Given the description of an element on the screen output the (x, y) to click on. 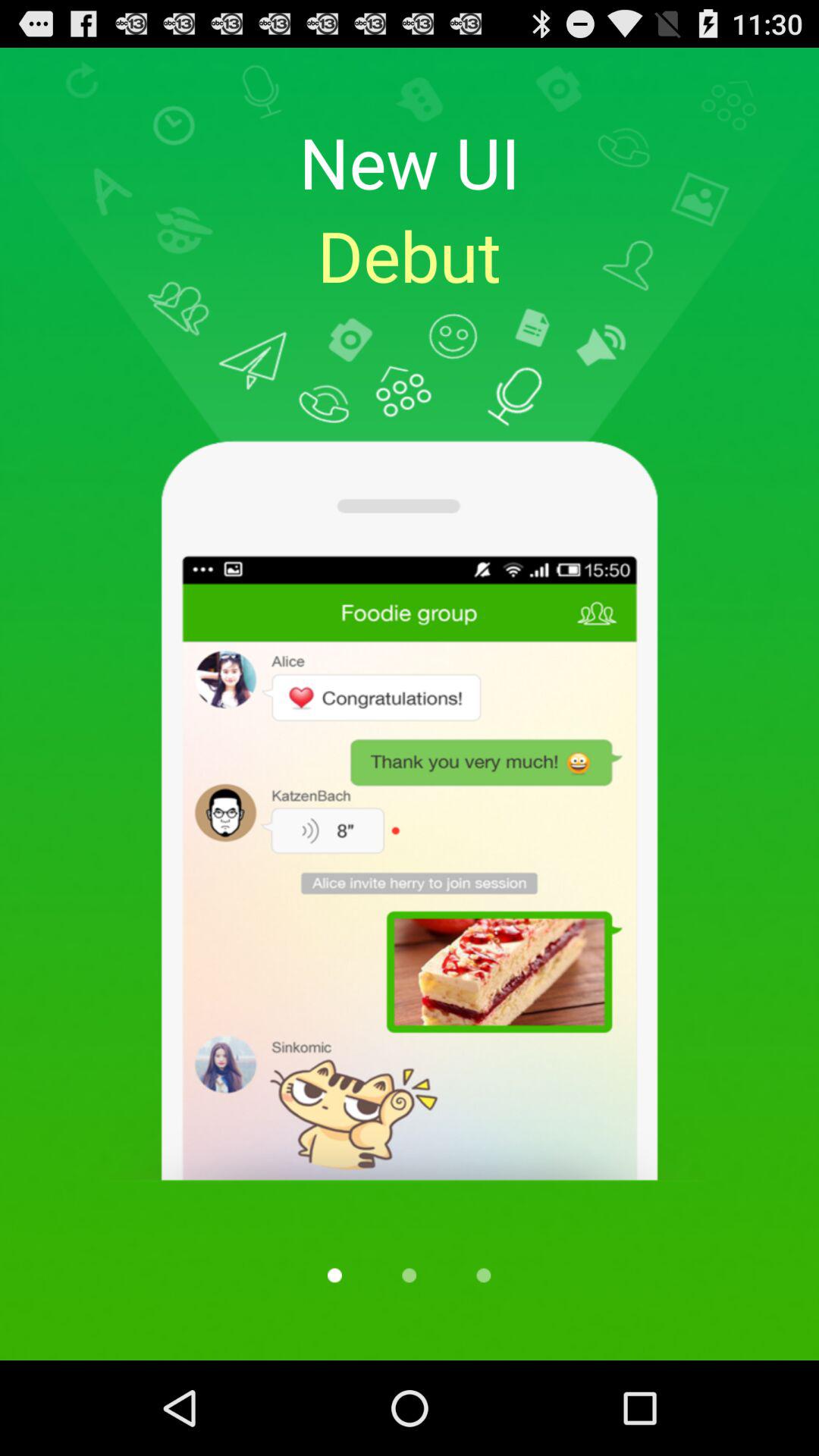
see first image in slider (334, 1275)
